Given the description of an element on the screen output the (x, y) to click on. 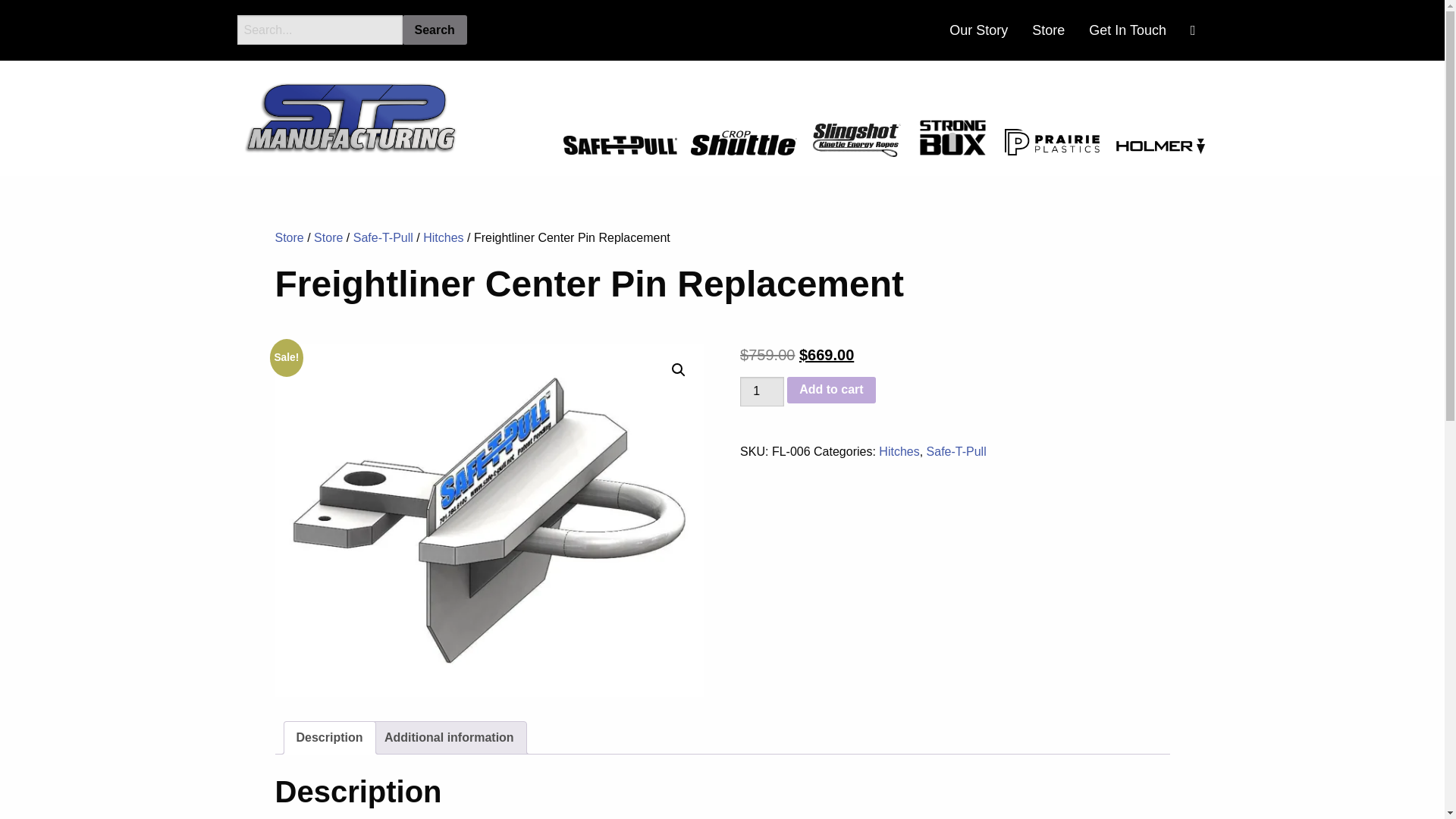
Prairie Plastics (1051, 141)
Holmer (1160, 145)
My Cart (1192, 30)
Store (328, 237)
1 (761, 391)
Search (433, 30)
Crop Shuttle (743, 142)
Description (328, 737)
Our Story (978, 30)
Add to cart (831, 390)
Additional information (448, 737)
Hitches (443, 237)
Safe-T-Pull (383, 237)
Store (288, 237)
Get In Touch (1127, 30)
